Given the description of an element on the screen output the (x, y) to click on. 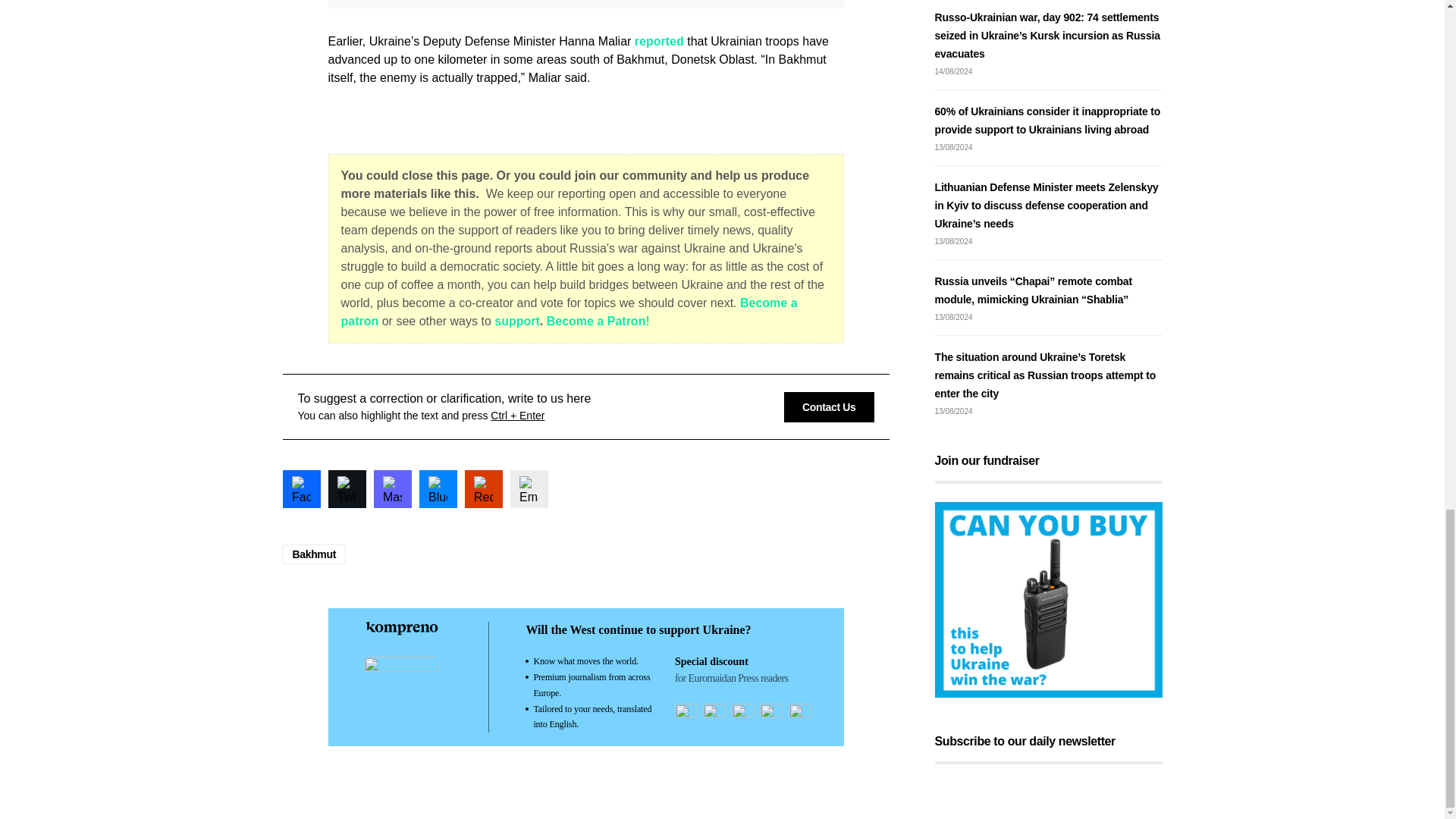
Share to Reddit (483, 488)
Share to Email (528, 488)
Share to Twitter (346, 488)
Share to Mastodon (391, 488)
Share to Bluesky (438, 488)
Share to Facebook (301, 488)
